Given the description of an element on the screen output the (x, y) to click on. 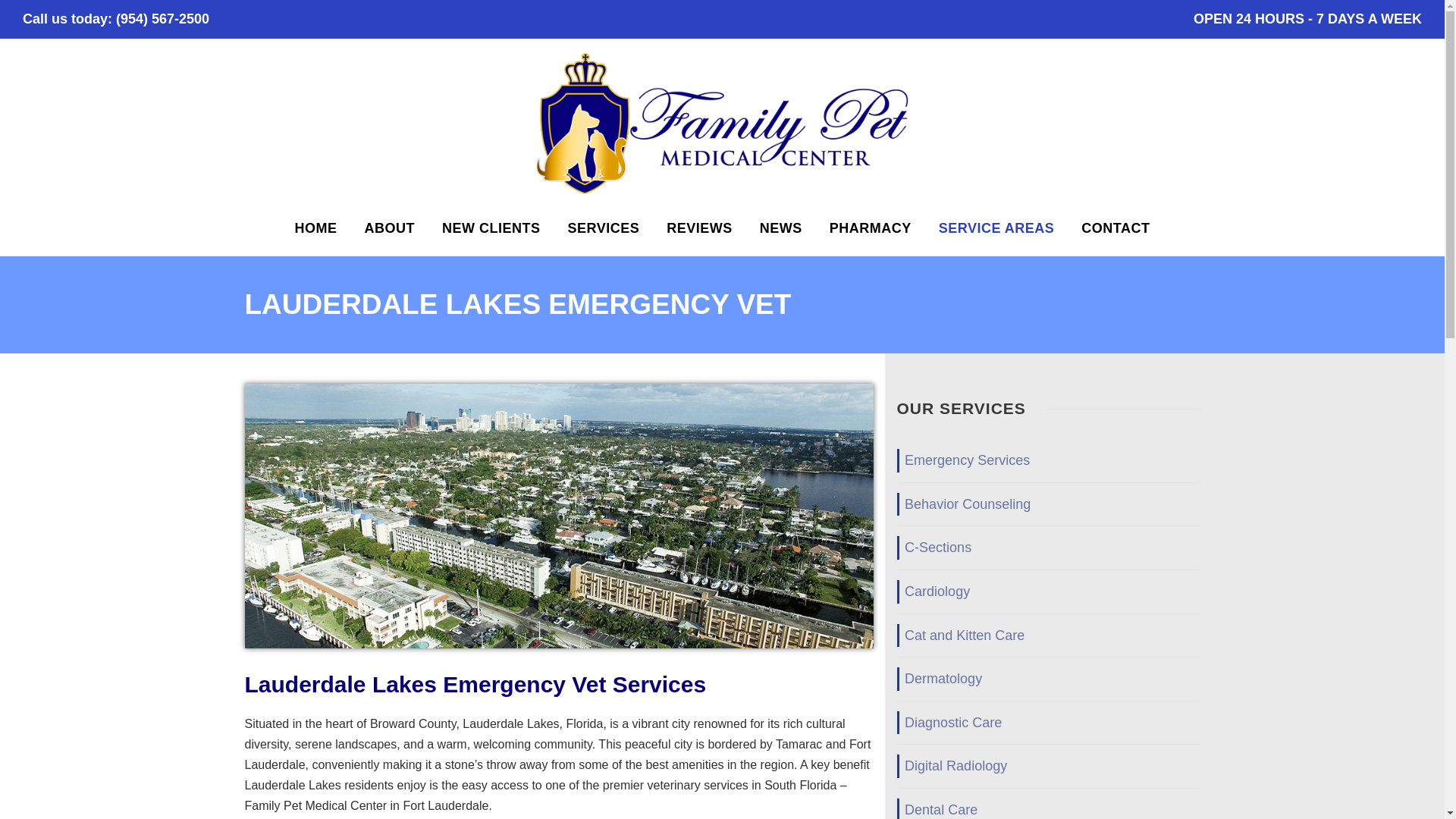
PHARMACY (870, 236)
NEW CLIENTS (491, 236)
HOME (316, 236)
REVIEWS (699, 236)
FPMC-Logo3 (721, 124)
SERVICES (603, 236)
SERVICE AREAS (996, 236)
ABOUT (389, 236)
NEWS (781, 236)
